Given the description of an element on the screen output the (x, y) to click on. 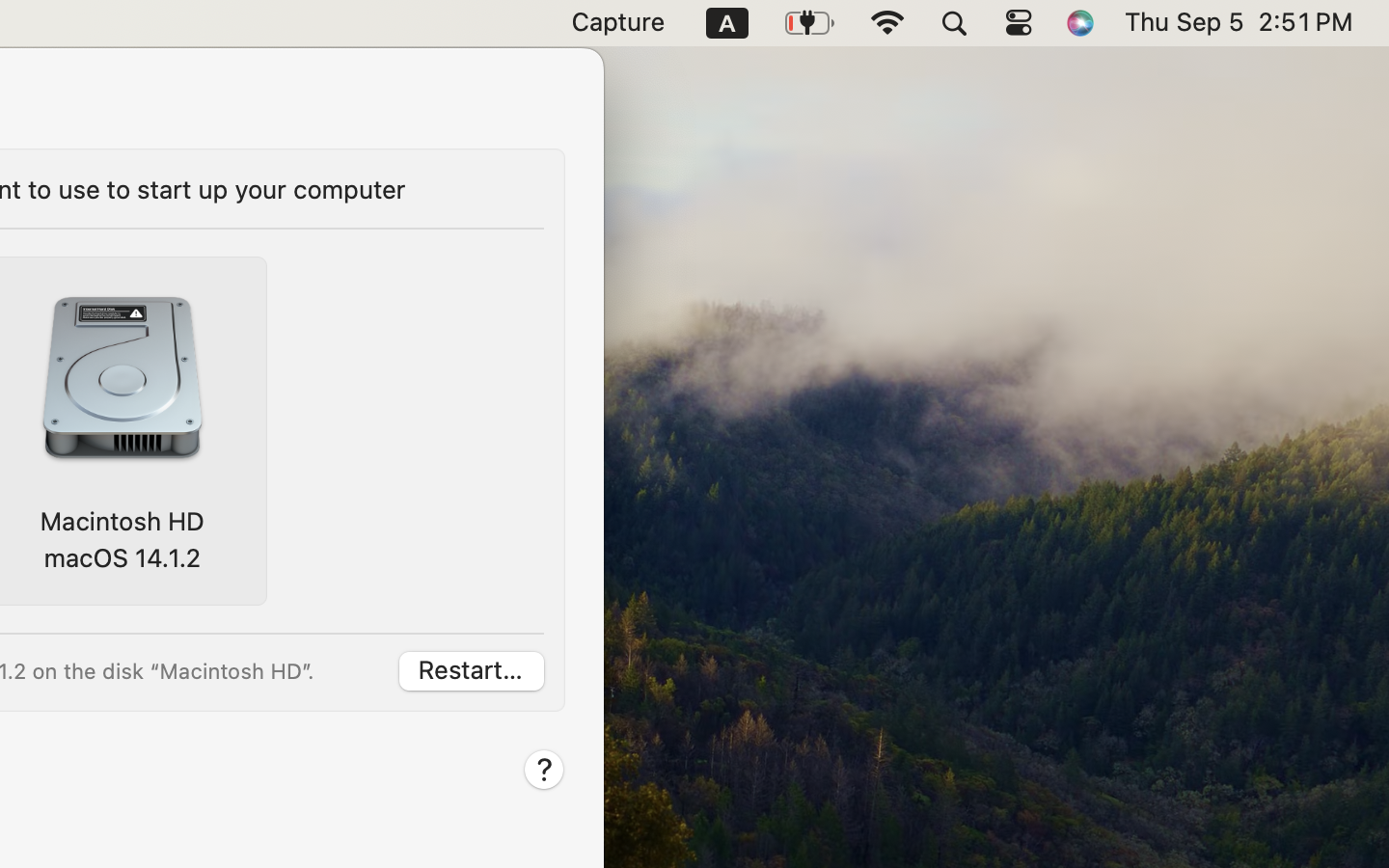
Macintosh HD Element type: AXStaticText (121, 520)
macOS 14.1.2 Element type: AXStaticText (121, 557)
